Given the description of an element on the screen output the (x, y) to click on. 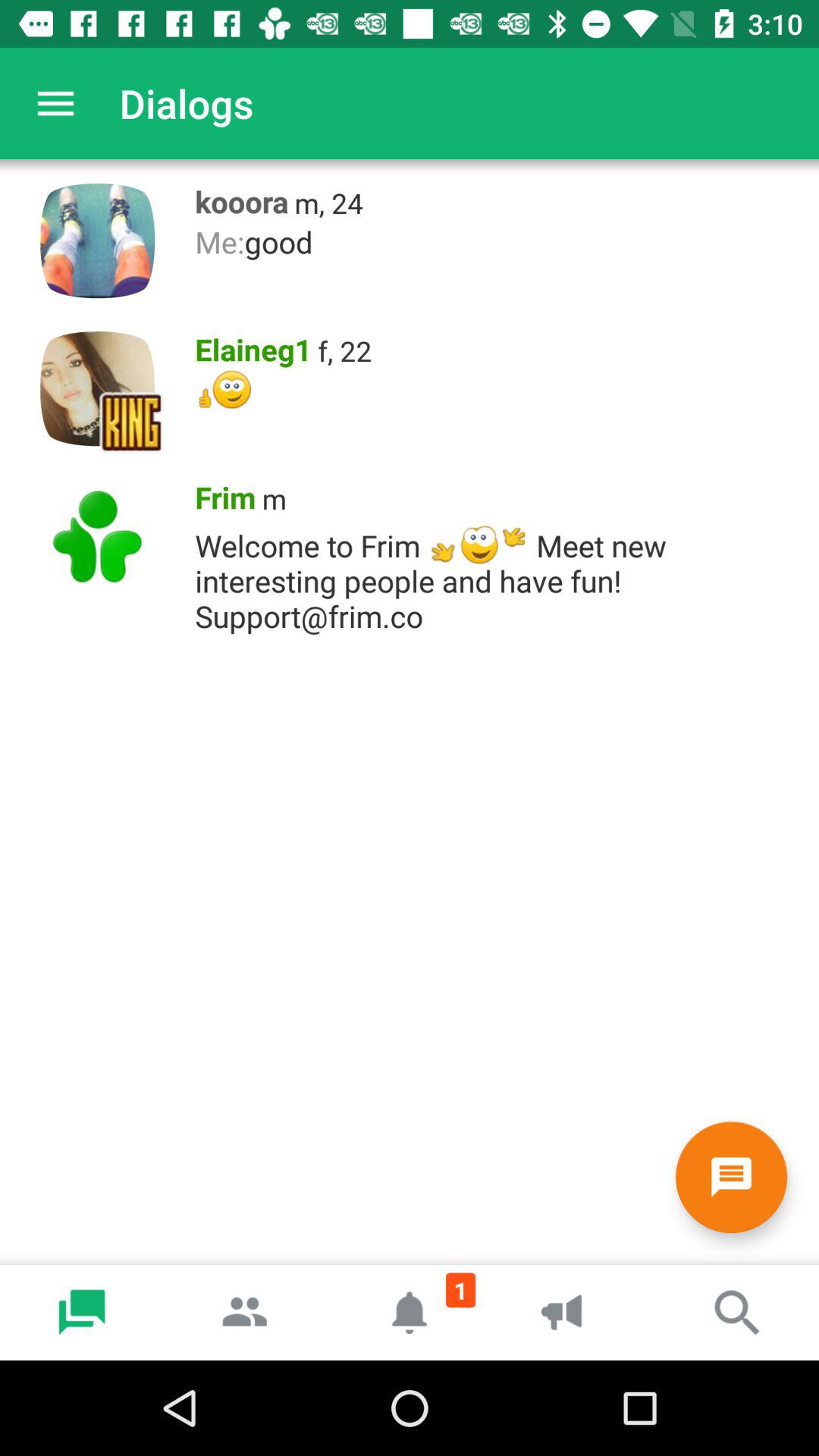
press icon below the me:good item (344, 350)
